Given the description of an element on the screen output the (x, y) to click on. 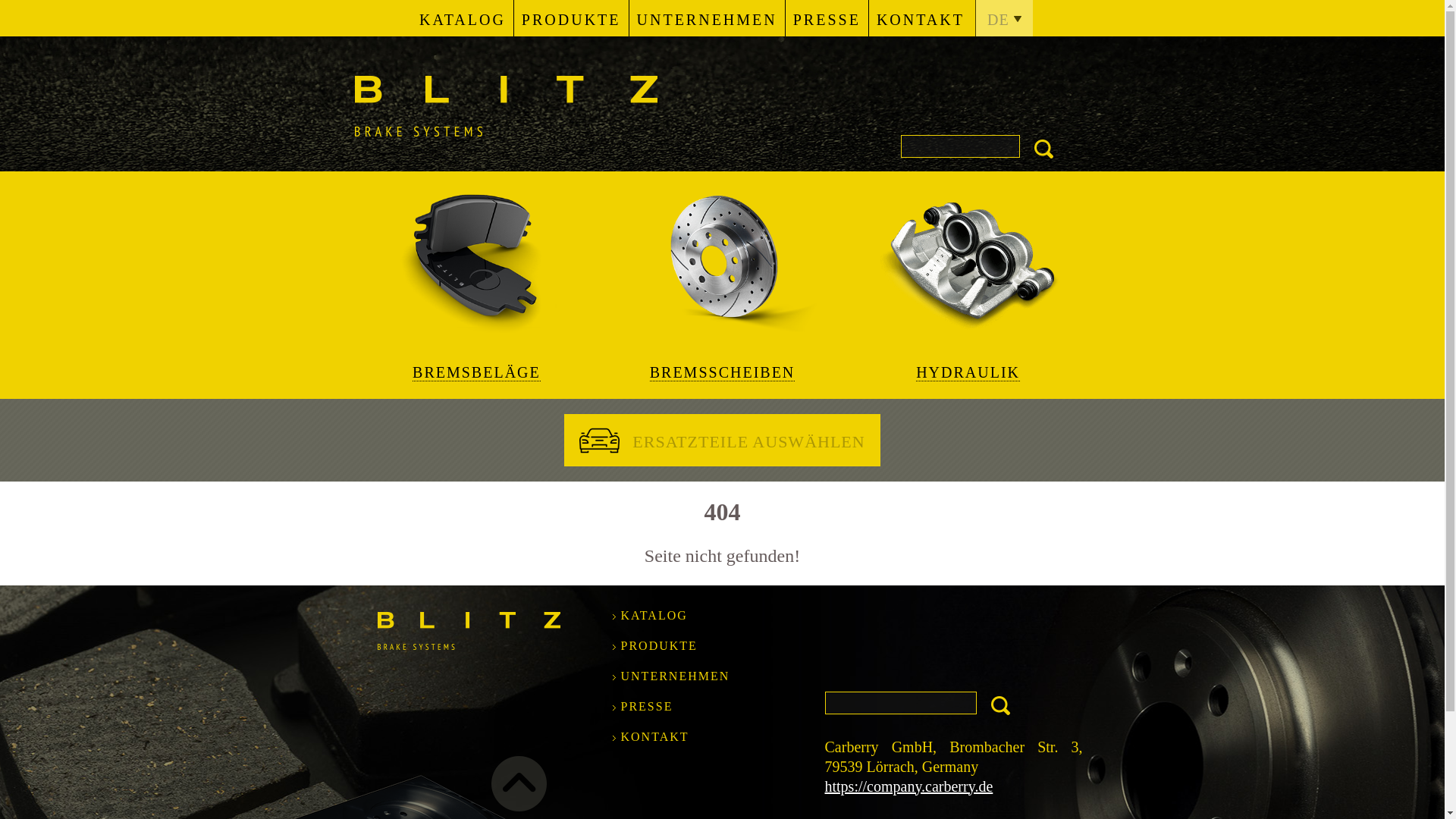
KATALOG (462, 18)
BREMSSCHEIBEN (721, 284)
PRODUKTE (570, 18)
UNTERNEHMEN (707, 18)
PRESSE (827, 18)
KONTAKT (654, 736)
PRESSE (646, 706)
KONTAKT (920, 18)
UNTERNEHMEN (674, 675)
HYDRAULIK (968, 284)
KATALOG (653, 615)
PRODUKTE (658, 645)
